Given the description of an element on the screen output the (x, y) to click on. 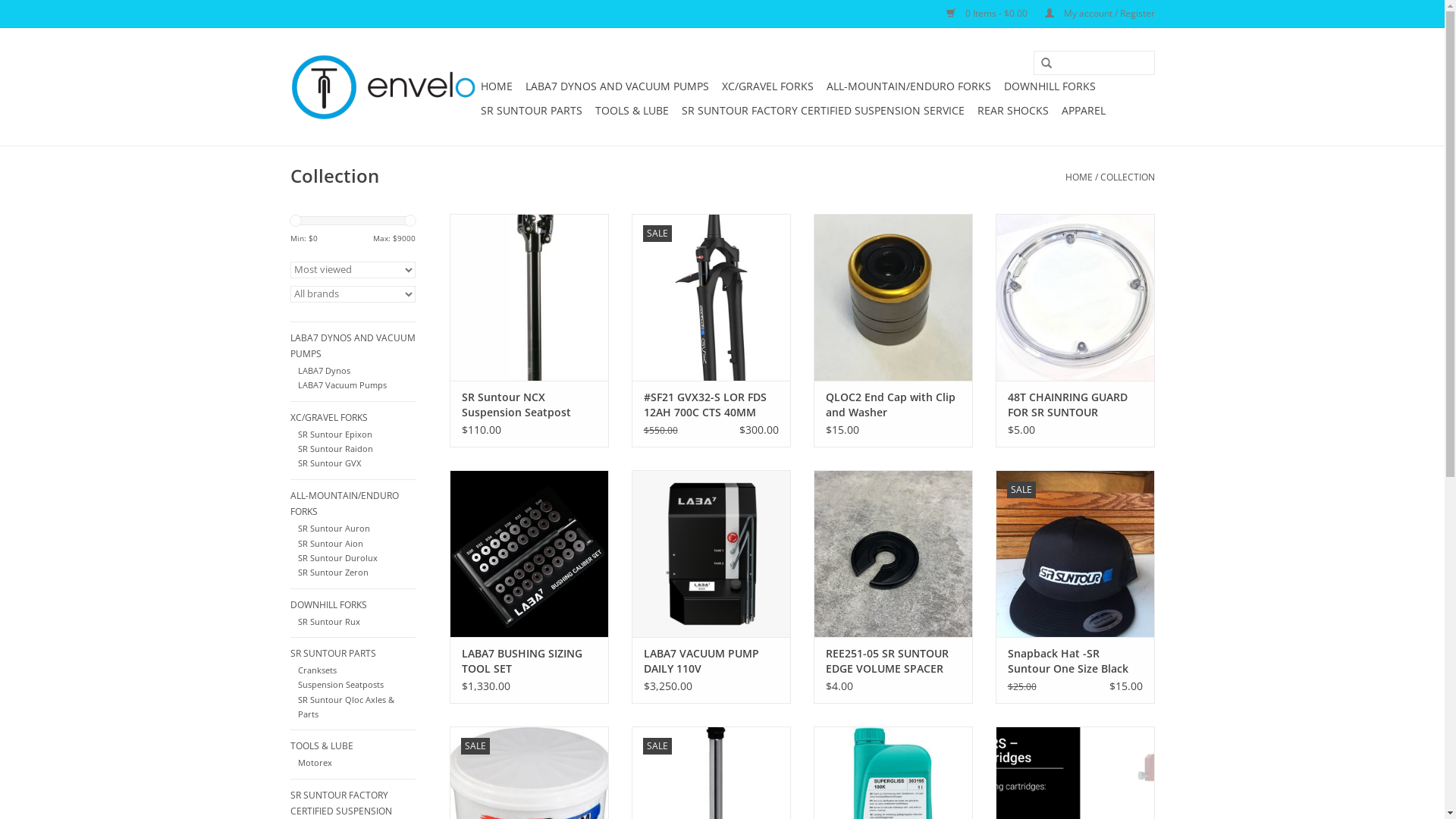
LABA7 VACUUM PUMP DAILY 110V Element type: text (710, 661)
SR Suntour Aion Element type: text (330, 543)
COLLECTION Element type: text (1126, 176)
LABA7 DYNOS AND VACUUM PUMPS Element type: text (616, 86)
Cranksets Element type: text (317, 669)
SR Suntour Raidon Element type: text (335, 448)
DOWNHILL FORKS Element type: text (1049, 86)
LABA7 Dynos Element type: text (324, 370)
REAR SHOCKS Element type: text (1012, 110)
Motorex Element type: text (315, 762)
TOOLS & LUBE Element type: text (630, 110)
SR Suntour Qloc Axles & Parts Element type: text (346, 706)
SR Suntour Zeron Element type: text (333, 571)
XC/GRAVEL FORKS Element type: text (351, 417)
Suspension Seatposts Element type: text (340, 684)
HOME Element type: text (496, 86)
LABA7 BUSHING SIZING TOOL SET Element type: text (528, 661)
SR SUNTOUR PARTS Element type: text (351, 653)
LABA7 LABA7  BUSHING SIZING TOOL SET Element type: hover (528, 553)
SR Suntour Rux Element type: text (329, 621)
SR Suntour Durolux Element type: text (337, 557)
LABA7 DYNOS AND VACUUM PUMPS Element type: text (351, 345)
APPAREL Element type: text (1083, 110)
DOWNHILL FORKS Element type: text (351, 604)
SR Suntour Epixon Element type: text (335, 433)
SR Suntour 48T CHAINRING GUARD FOR SR SUNTOUR CRANKSETS Element type: hover (1074, 296)
0 Items - $0.00 Element type: text (980, 12)
LABA7 Vacuum Pumps Element type: text (342, 384)
Search Element type: hover (1040, 63)
QLOC2 End Cap with Clip and Washer Element type: text (892, 404)
REE251-05 SR SUNTOUR EDGE VOLUME SPACER SMALL Element type: text (892, 661)
48T CHAINRING GUARD FOR SR SUNTOUR CRANKSETS Element type: text (1074, 404)
QLOC2 End Cap with Clip and Washer Element type: hover (892, 296)
TOOLS & LUBE Element type: text (351, 745)
#SF21 GVX32-S LOR FDS 12AH 700C CTS 40MM GLOSS BLACK Element type: text (710, 404)
LABA7 LABA7 VACUUM PUMP DAILY 110V Element type: hover (710, 553)
ALL-MOUNTAIN/ENDURO FORKS Element type: text (908, 86)
SR Suntour SR Suntour NCX Suspension Seatpost 350mm BLACK Element type: hover (528, 296)
SR SUNTOUR FACTORY CERTIFIED SUSPENSION SERVICE Element type: text (822, 110)
SR Suntour NCX Suspension Seatpost 350mm BLACK Element type: text (528, 404)
My account / Register Element type: text (1091, 12)
SALE Element type: text (1074, 553)
SR Suntour REE251-05 SR SUNTOUR EDGE VOLUME SPACER SMALL Element type: hover (892, 553)
envelo Element type: hover (382, 86)
SR Suntour GVX Element type: text (329, 462)
SR SUNTOUR PARTS Element type: text (531, 110)
SALE Element type: text (710, 296)
XC/GRAVEL FORKS Element type: text (767, 86)
Snapback Hat -SR Suntour One Size Black Element type: hover (1074, 553)
Snapback Hat -SR Suntour One Size Black Element type: text (1074, 661)
HOME Element type: text (1078, 176)
SR Suntour Auron Element type: text (334, 527)
ALL-MOUNTAIN/ENDURO FORKS Element type: text (351, 503)
